Given the description of an element on the screen output the (x, y) to click on. 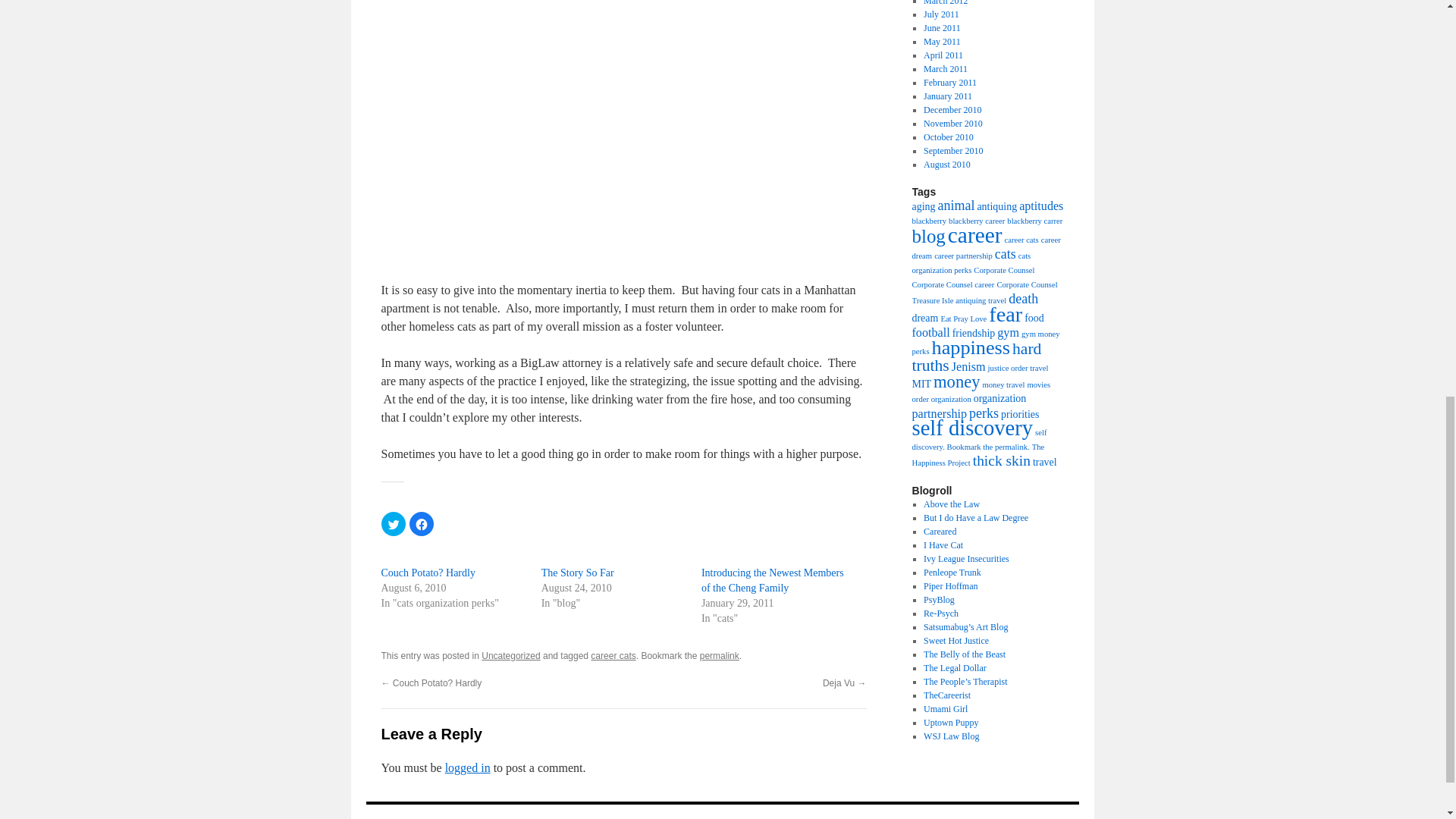
Uncategorized (510, 655)
The Story So Far (577, 572)
logged in (467, 767)
Permalink to Saying Goodbye (719, 655)
Introducing the Newest Members of the Cheng Family (772, 580)
Couch Potato? Hardly (427, 572)
The Story So Far (577, 572)
Couch Potato? Hardly (427, 572)
Click to share on Twitter (392, 523)
permalink (719, 655)
